Given the description of an element on the screen output the (x, y) to click on. 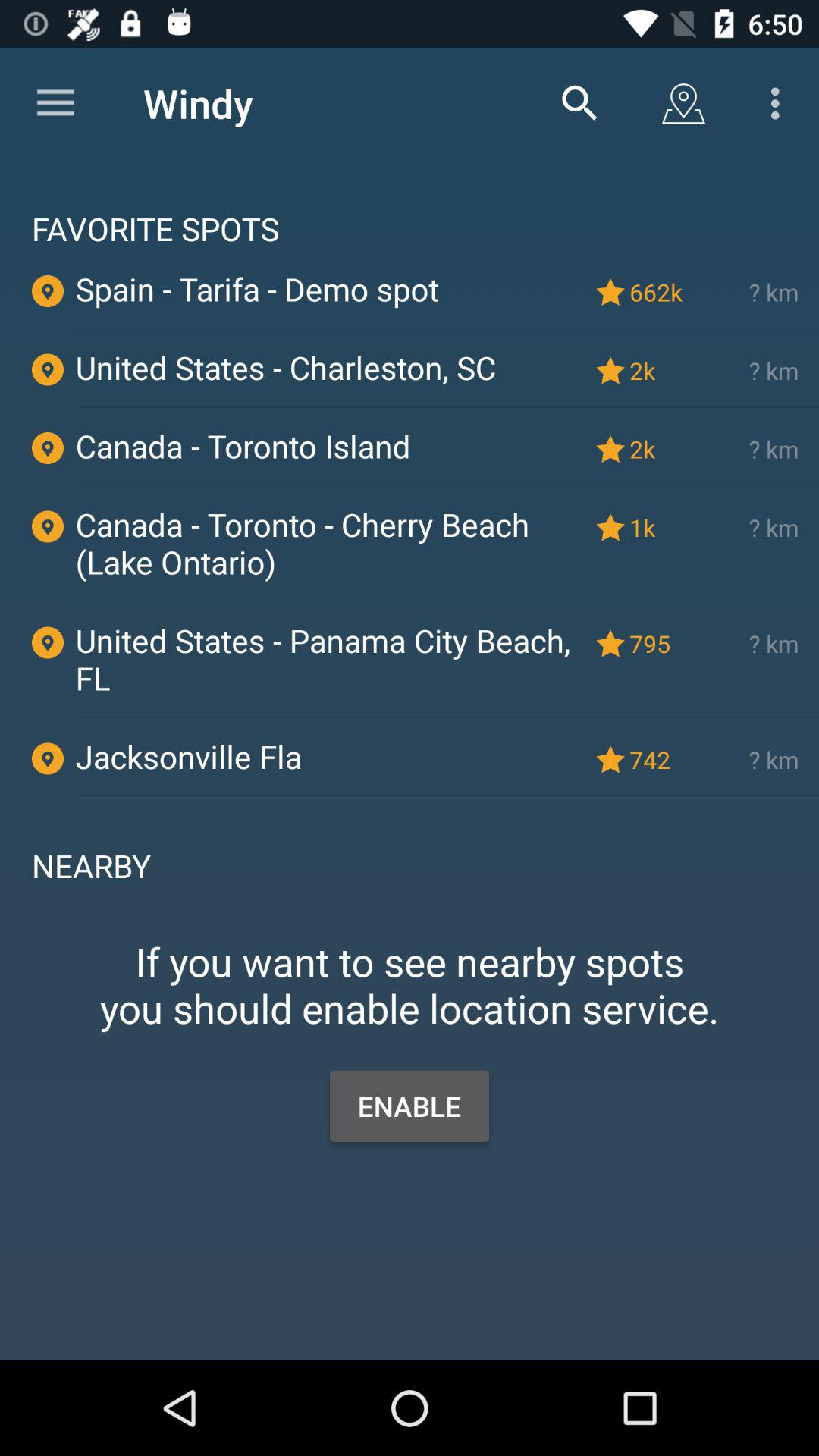
launch item below canada - toronto island (448, 484)
